Given the description of an element on the screen output the (x, y) to click on. 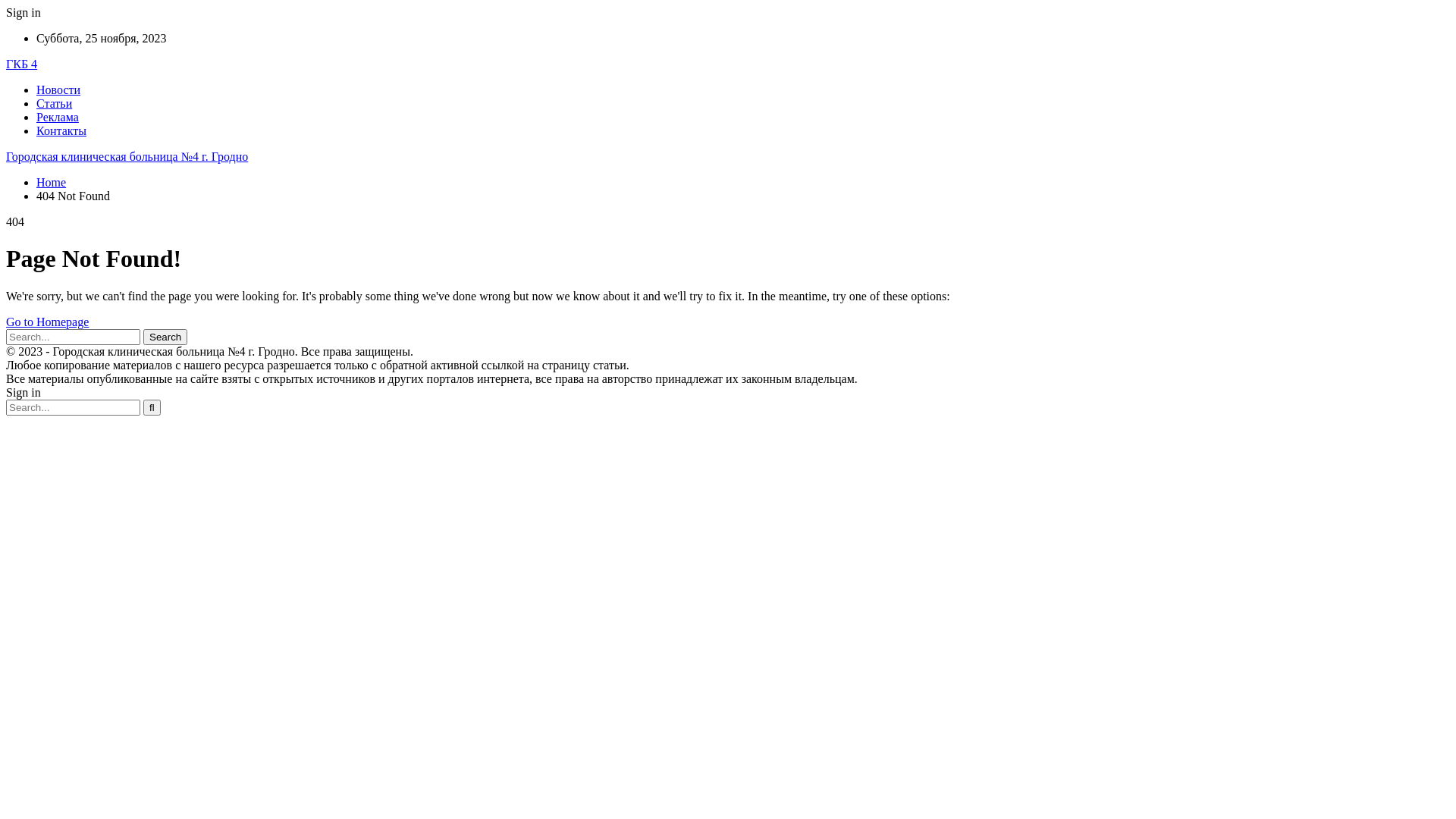
Home Element type: text (50, 181)
Search Element type: text (165, 337)
Search for: Element type: hover (73, 337)
Go to Homepage Element type: text (47, 321)
Sign in Element type: text (23, 12)
Search for: Element type: hover (73, 407)
